Given the description of an element on the screen output the (x, y) to click on. 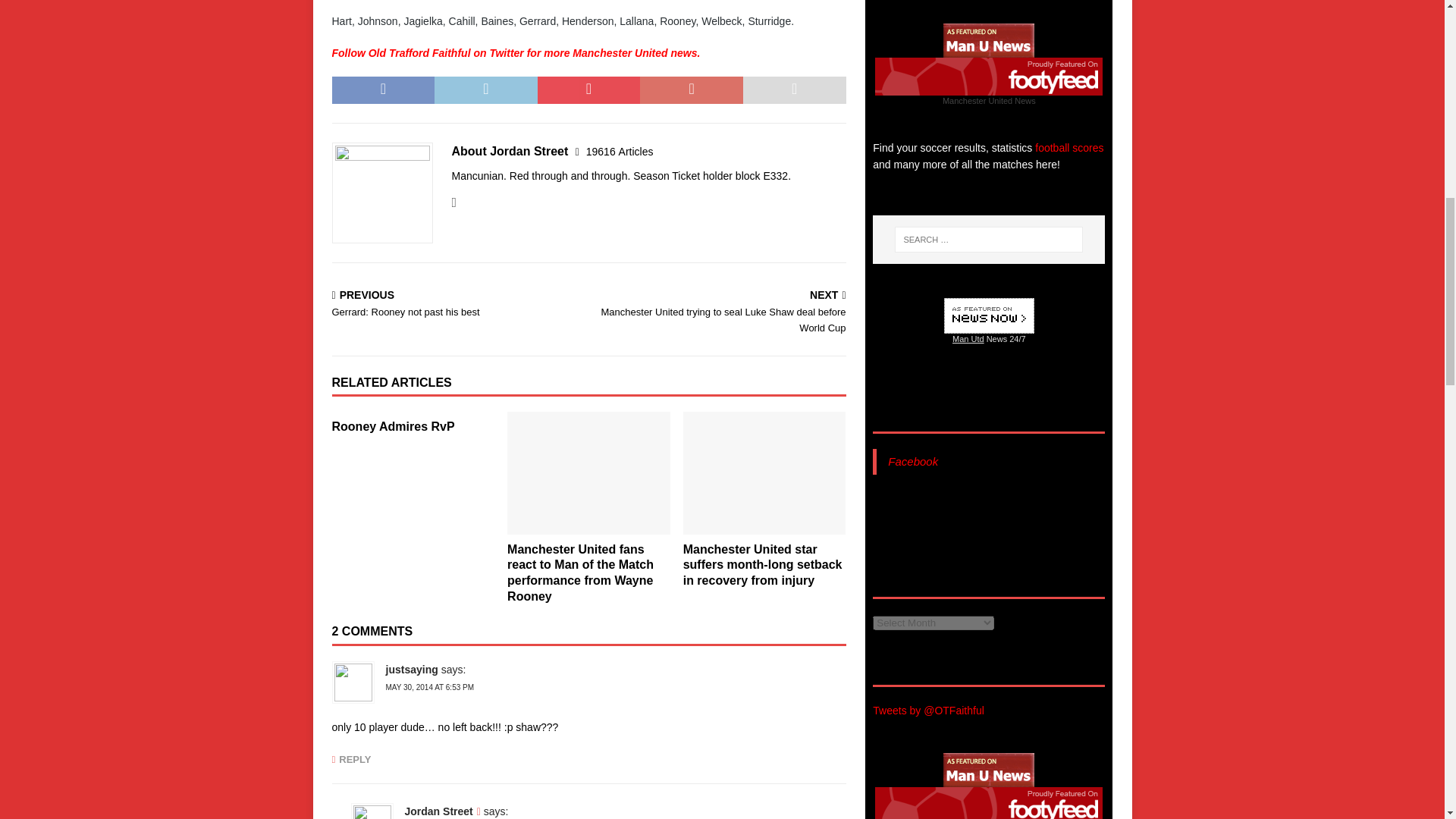
More articles written by Jordan Street' (619, 151)
19616 Articles (619, 151)
